Given the description of an element on the screen output the (x, y) to click on. 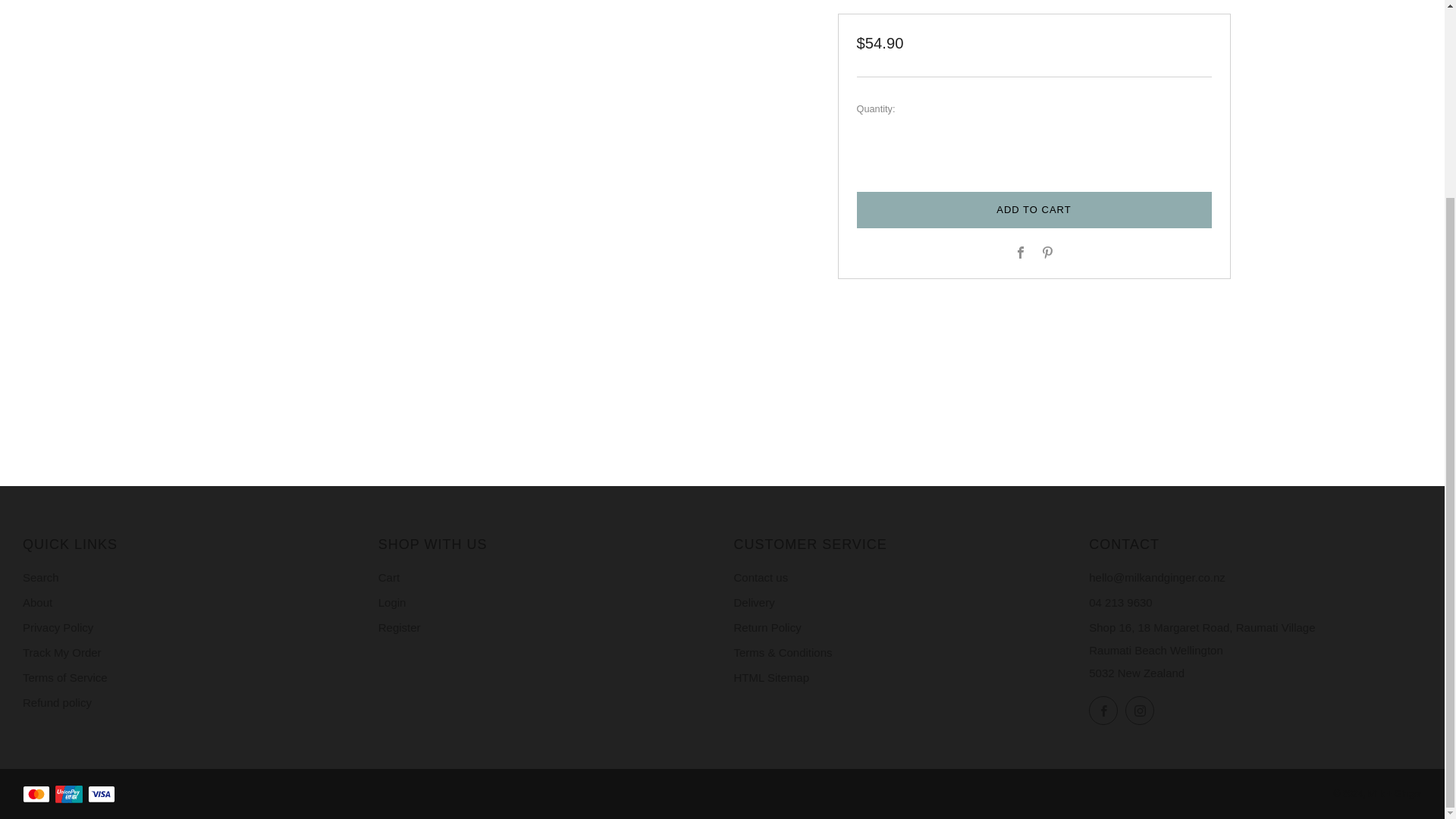
Union Pay (68, 794)
Mastercard (36, 794)
Visa (101, 794)
